Given the description of an element on the screen output the (x, y) to click on. 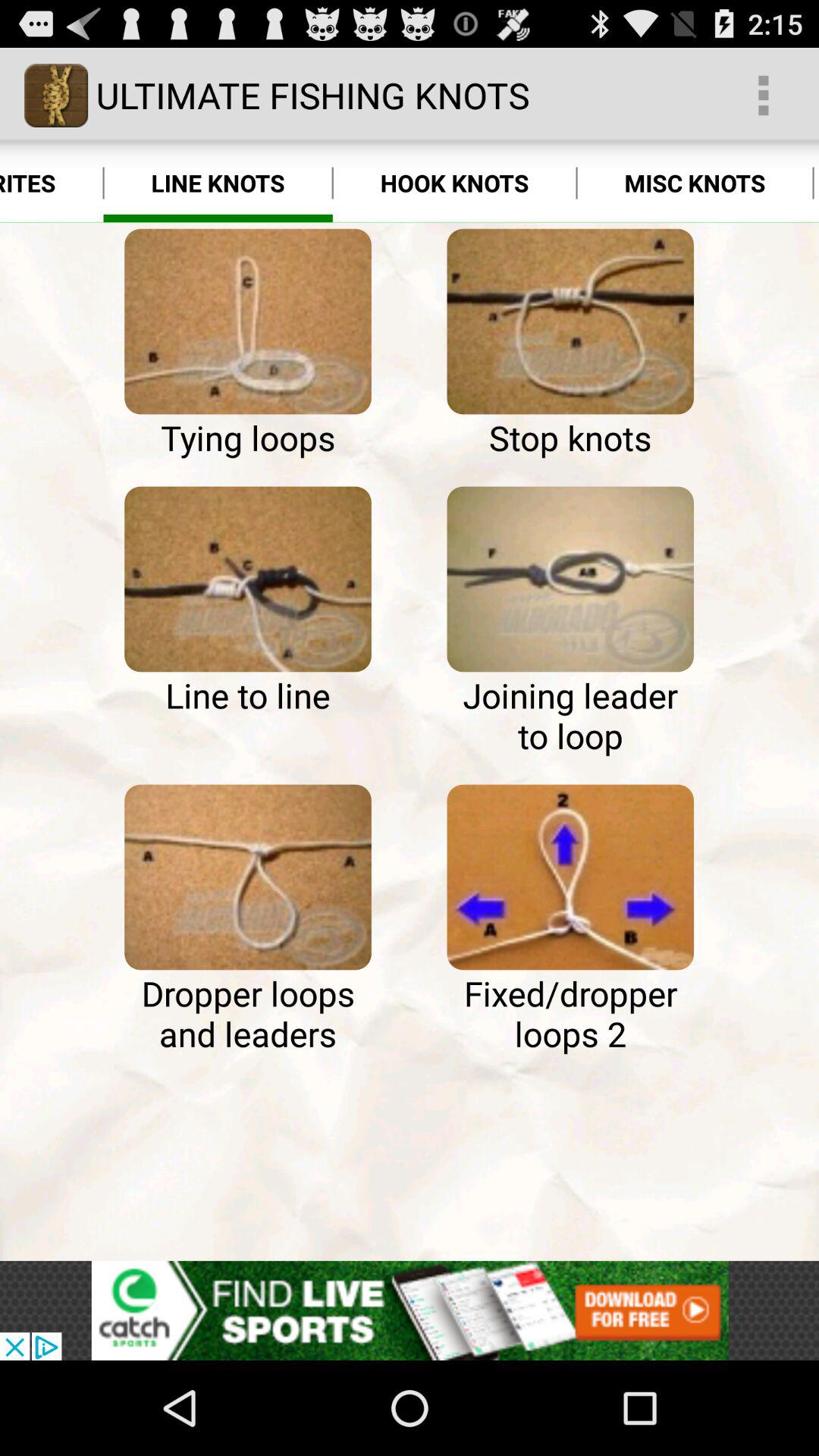
display picture (570, 578)
